Given the description of an element on the screen output the (x, y) to click on. 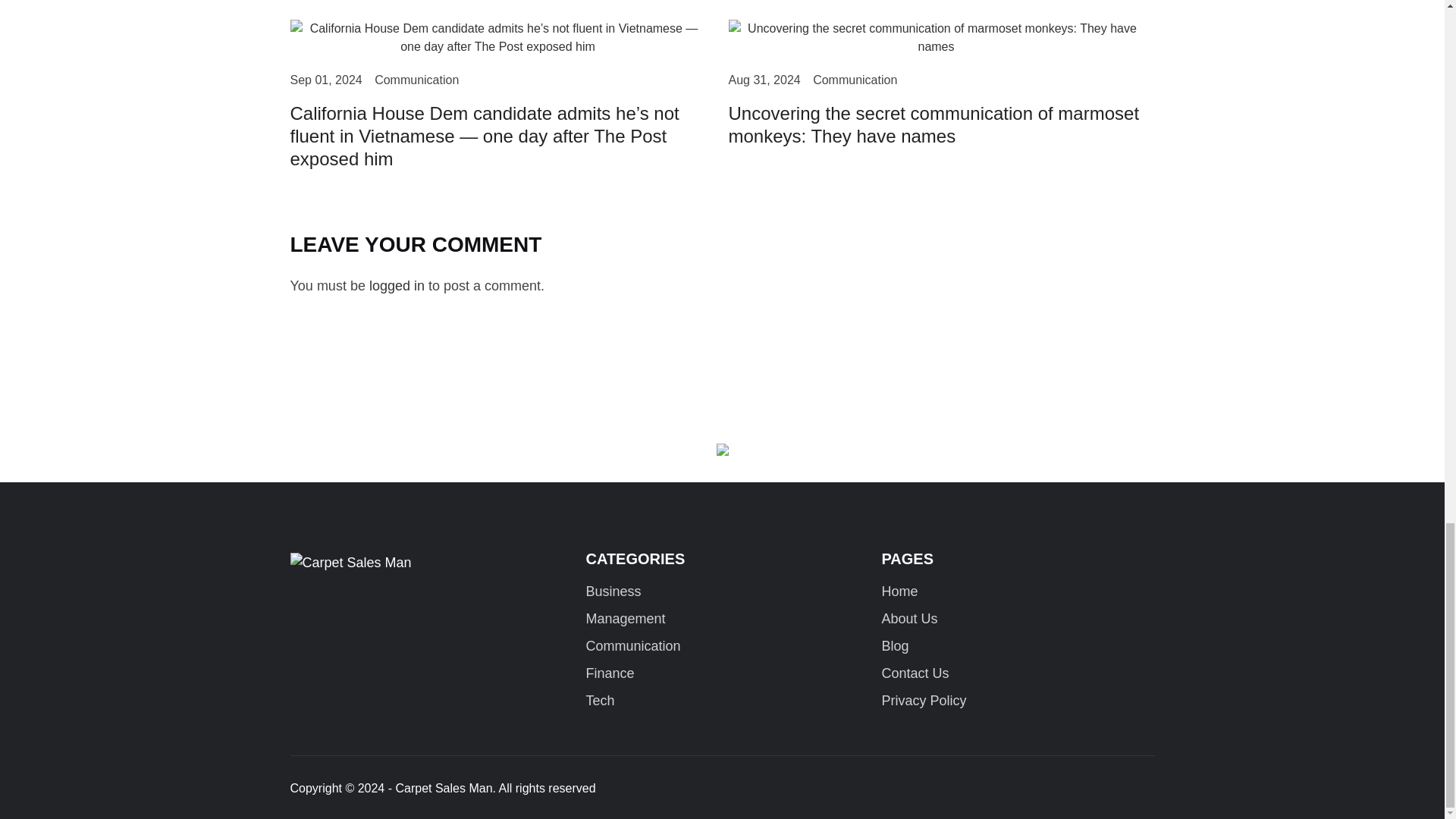
Communication (854, 84)
Tech (599, 704)
Home (898, 595)
Management (625, 622)
Communication (632, 649)
Business (612, 595)
Communication (416, 84)
Finance (609, 677)
logged in (397, 285)
